Given the description of an element on the screen output the (x, y) to click on. 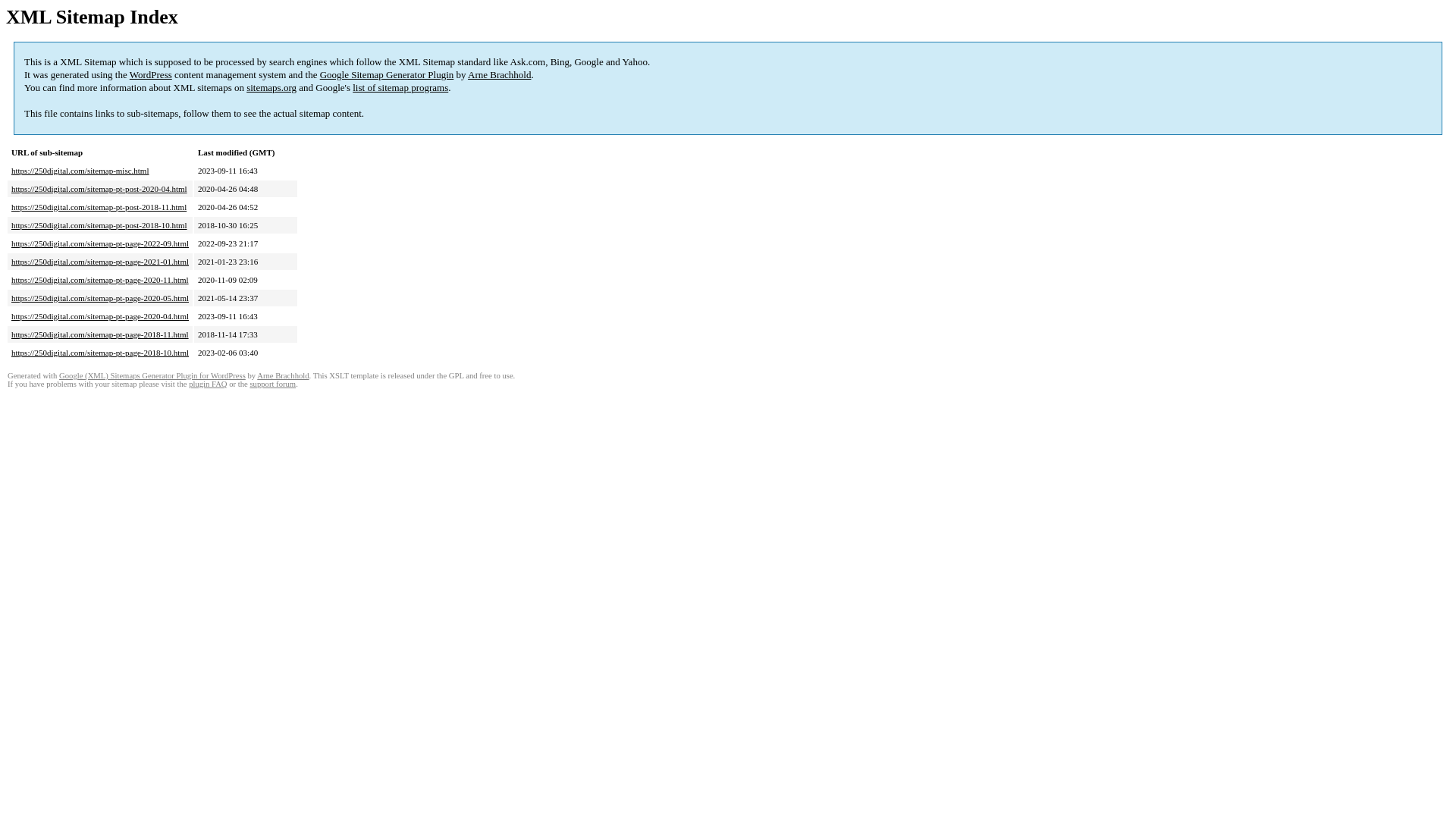
https://250digital.com/sitemap-pt-page-2021-01.html Element type: text (99, 261)
WordPress Element type: text (150, 74)
https://250digital.com/sitemap-pt-page-2018-10.html Element type: text (99, 352)
https://250digital.com/sitemap-misc.html Element type: text (79, 170)
https://250digital.com/sitemap-pt-post-2020-04.html Element type: text (99, 188)
sitemaps.org Element type: text (271, 87)
https://250digital.com/sitemap-pt-page-2020-04.html Element type: text (99, 315)
https://250digital.com/sitemap-pt-page-2020-11.html Element type: text (99, 279)
Arne Brachhold Element type: text (498, 74)
plugin FAQ Element type: text (207, 383)
Arne Brachhold Element type: text (282, 375)
https://250digital.com/sitemap-pt-page-2018-11.html Element type: text (99, 333)
Google Sitemap Generator Plugin Element type: text (387, 74)
Google (XML) Sitemaps Generator Plugin for WordPress Element type: text (152, 375)
https://250digital.com/sitemap-pt-page-2020-05.html Element type: text (99, 297)
list of sitemap programs Element type: text (400, 87)
support forum Element type: text (272, 383)
https://250digital.com/sitemap-pt-post-2018-10.html Element type: text (99, 224)
https://250digital.com/sitemap-pt-post-2018-11.html Element type: text (98, 206)
https://250digital.com/sitemap-pt-page-2022-09.html Element type: text (99, 242)
